Given the description of an element on the screen output the (x, y) to click on. 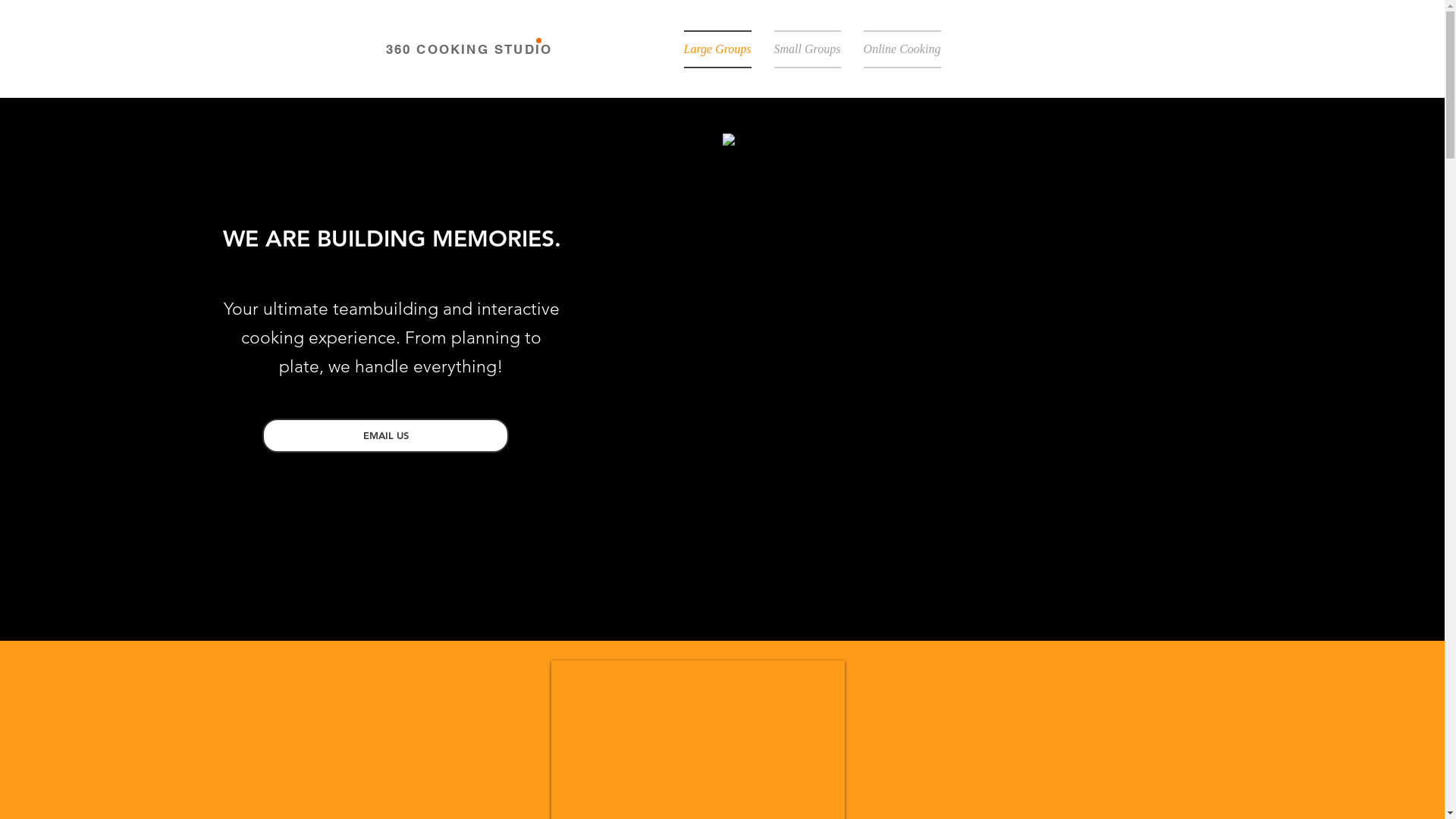
Online Cooking Element type: text (896, 49)
EMAIL US Element type: text (385, 435)
Small Groups Element type: text (807, 49)
360 COOKING STUDIO Element type: text (468, 48)
Large Groups Element type: text (716, 49)
